Given the description of an element on the screen output the (x, y) to click on. 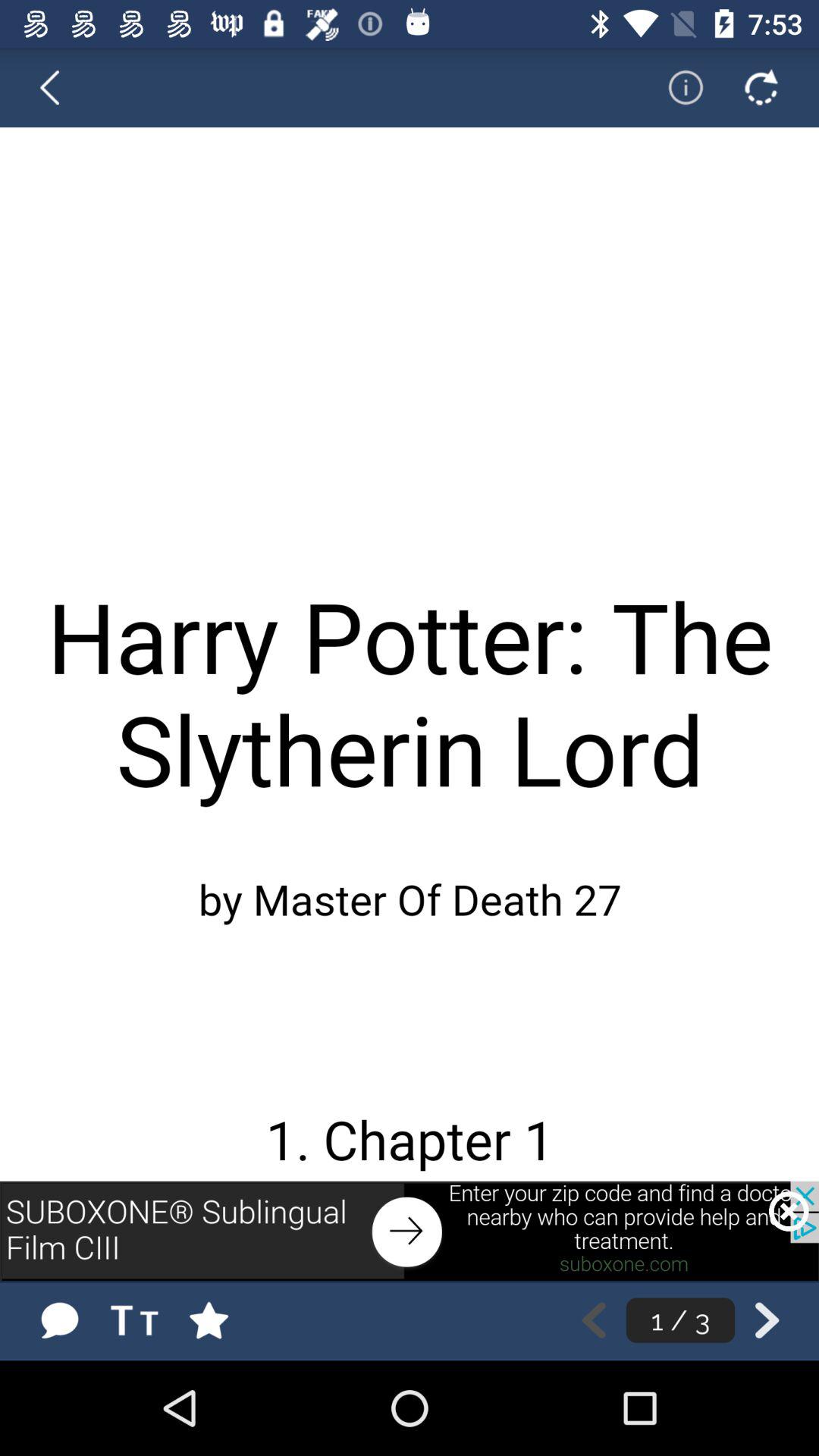
refresh page (761, 87)
